Given the description of an element on the screen output the (x, y) to click on. 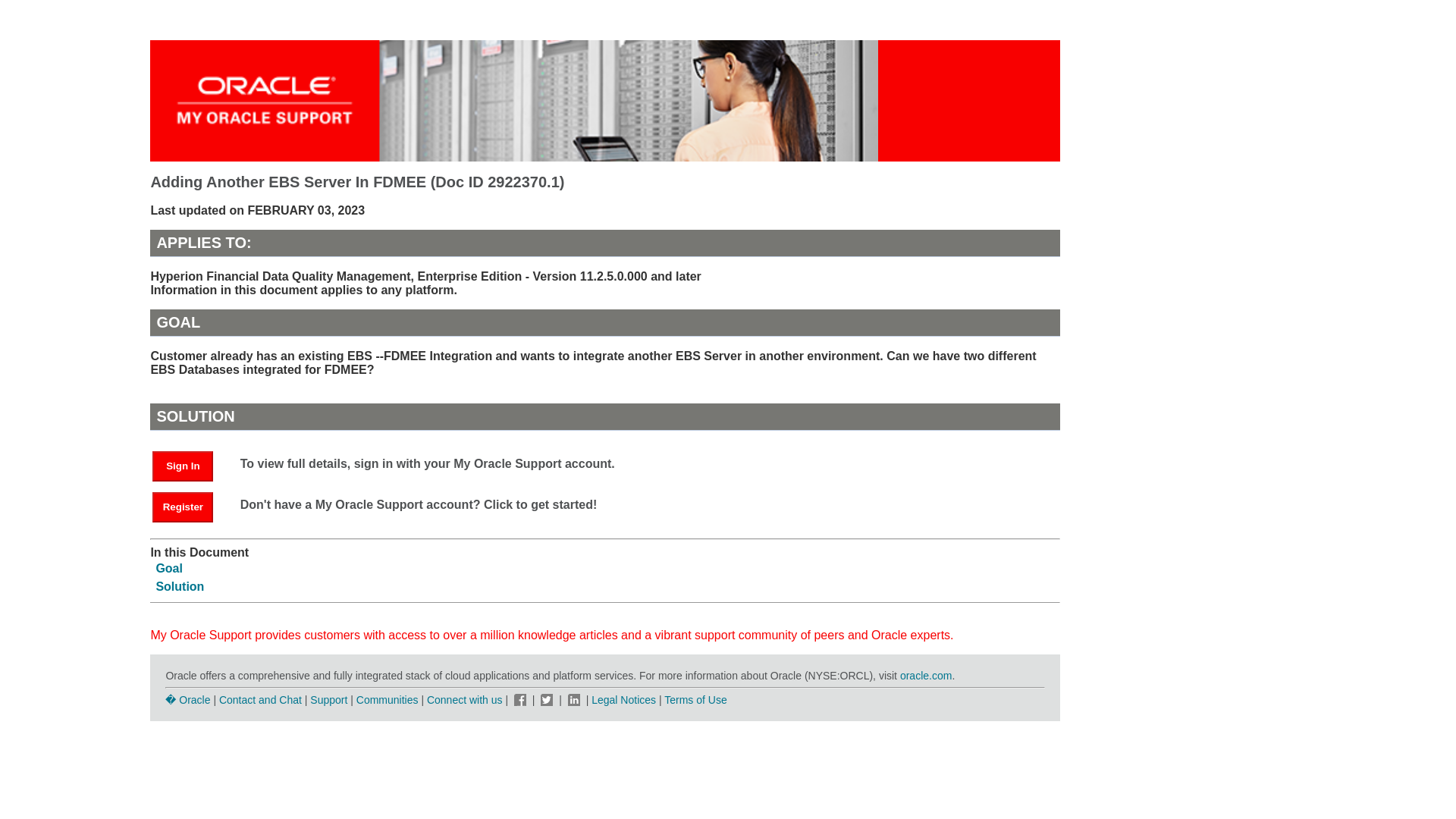
Support (328, 699)
Register (182, 507)
Sign In (182, 466)
Register (190, 505)
Communities (387, 699)
Legal Notices (623, 699)
Terms of Use (694, 699)
oracle.com (925, 675)
Solution (179, 585)
Sign In (190, 464)
